Given the description of an element on the screen output the (x, y) to click on. 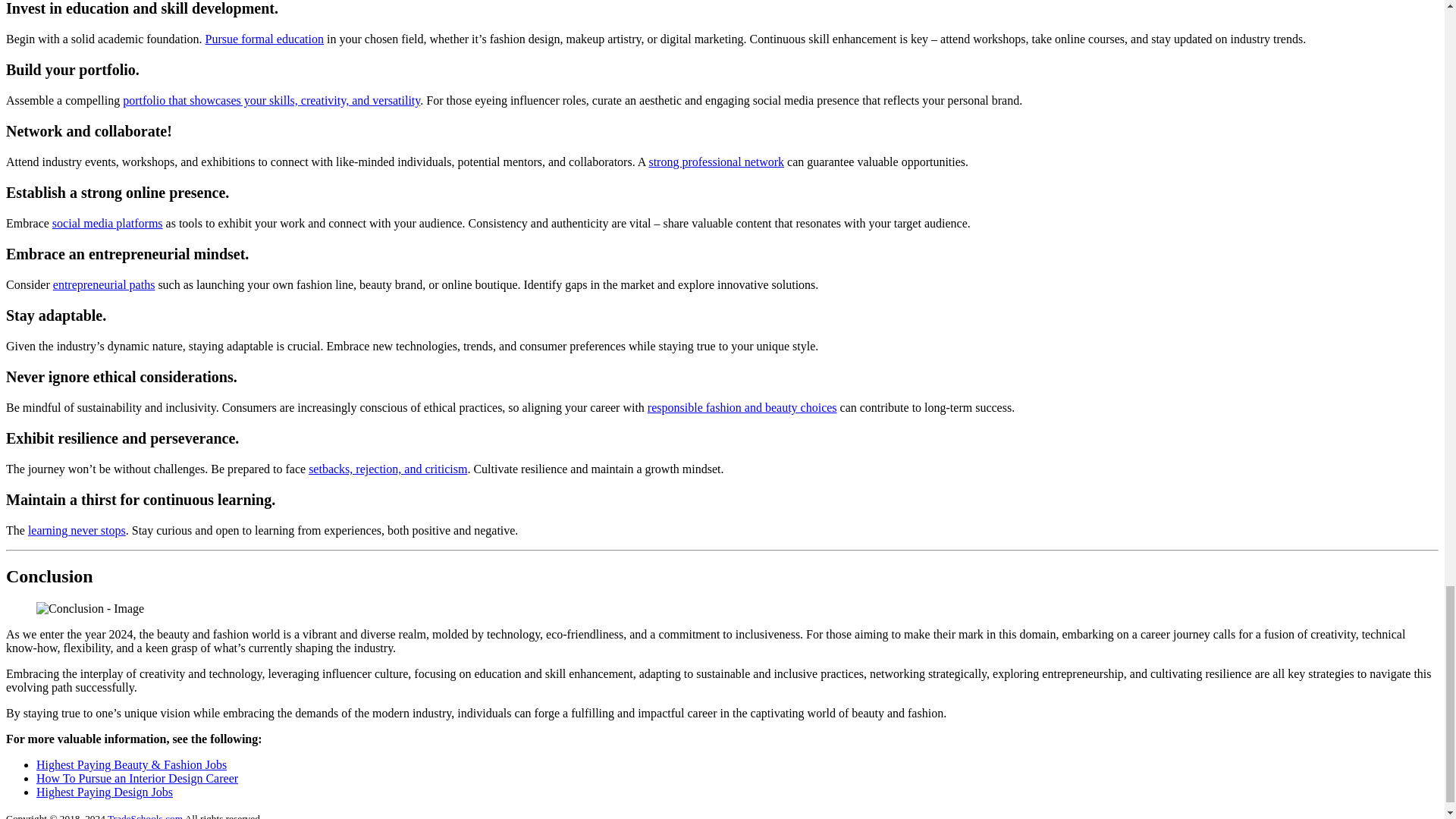
Pursue formal education (264, 38)
strong professional network (715, 161)
